Given the description of an element on the screen output the (x, y) to click on. 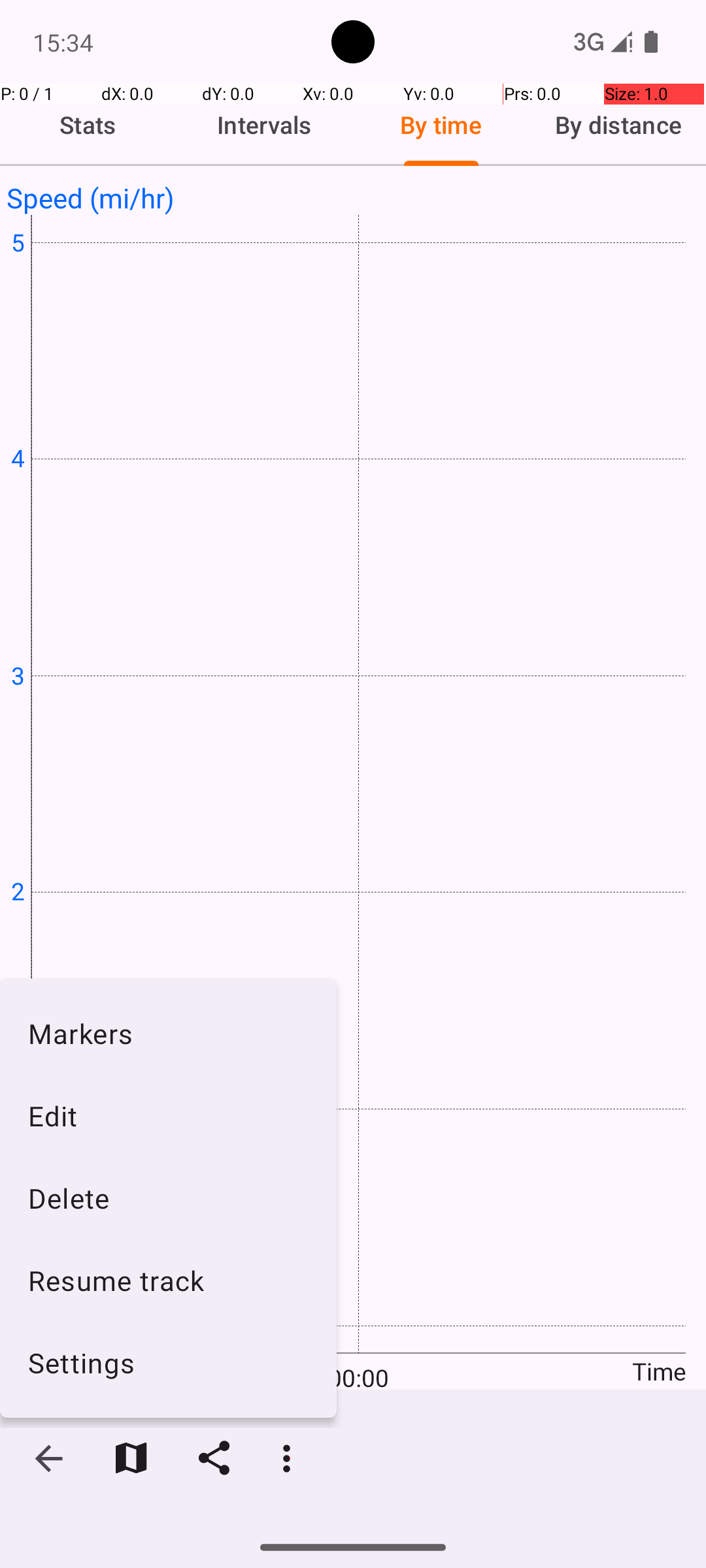
Resume track Element type: android.widget.TextView (168, 1279)
